Given the description of an element on the screen output the (x, y) to click on. 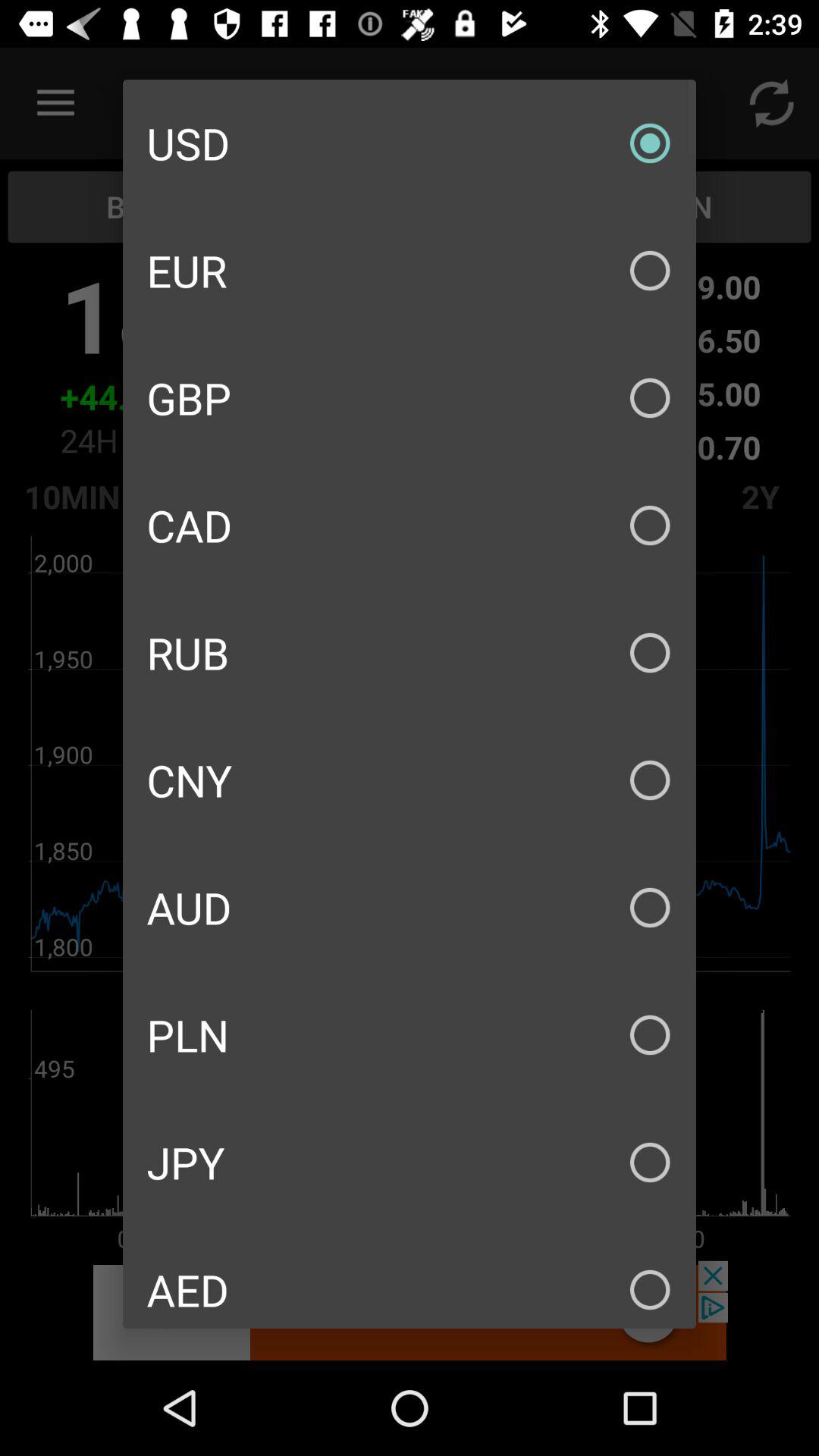
launch jpy (409, 1162)
